Given the description of an element on the screen output the (x, y) to click on. 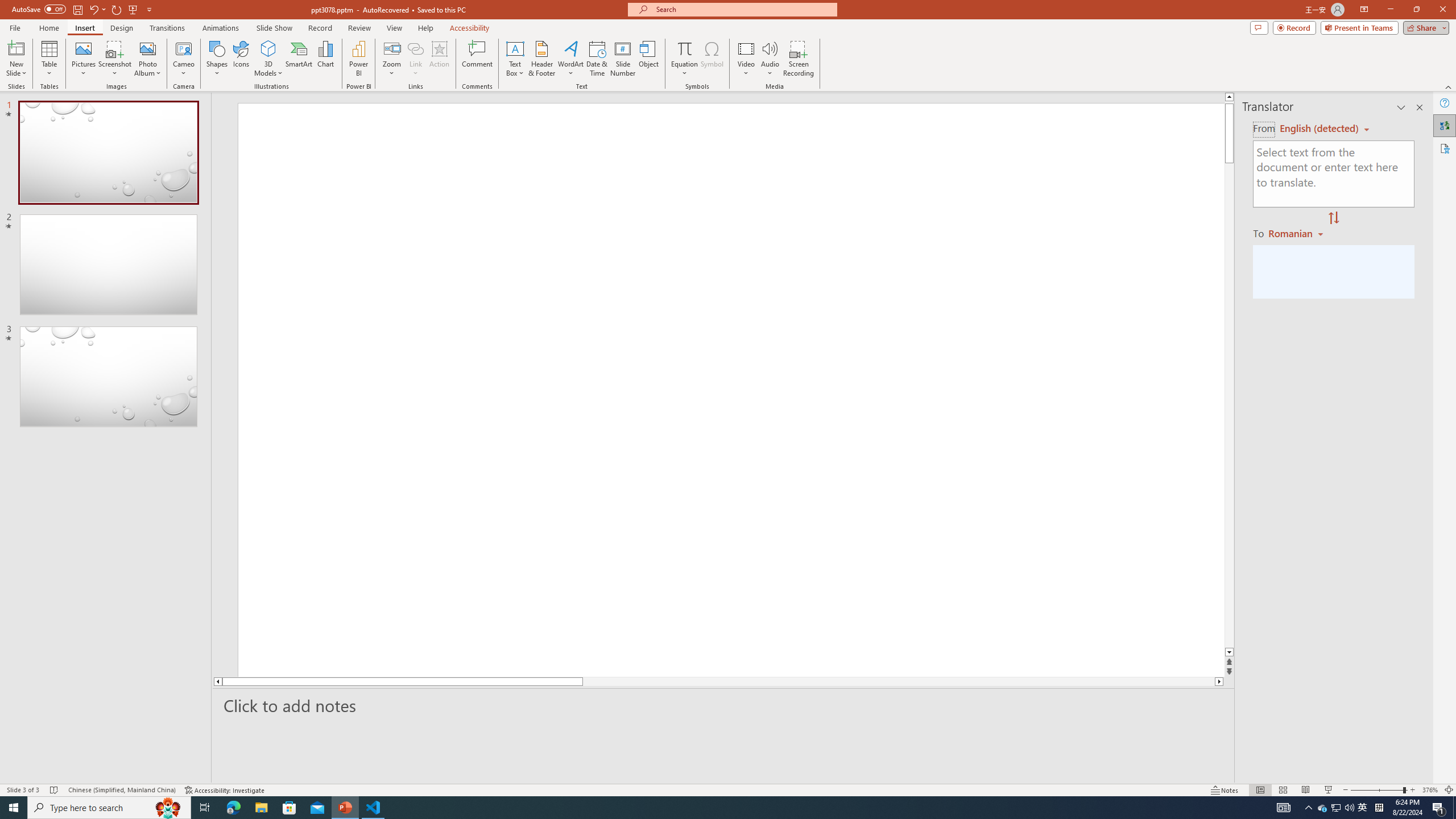
Date & Time... (596, 58)
Romanian (1296, 232)
Draw Horizontal Text Box (515, 48)
Zoom 376% (1430, 790)
Screenshot (114, 58)
